Given the description of an element on the screen output the (x, y) to click on. 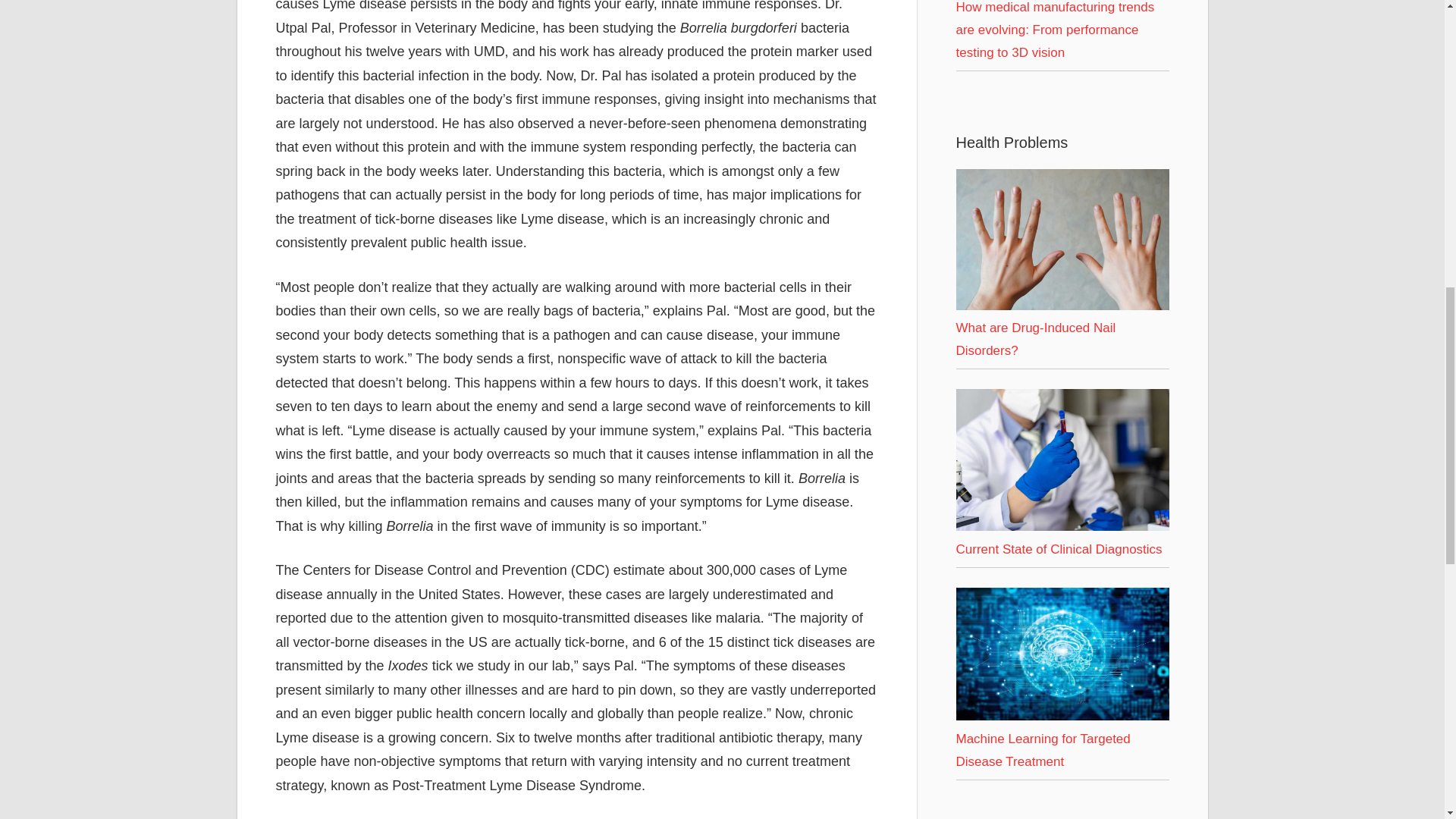
What are Drug-Induced Nail Disorders? (1062, 239)
What are Drug-Induced Nail Disorders? (1035, 339)
Machine Learning for Targeted Disease Treatment (1062, 654)
Machine Learning for Targeted Disease Treatment (1062, 716)
What are Drug-Induced Nail Disorders? (1062, 305)
Machine Learning for Targeted Disease Treatment (1042, 750)
Current State of Clinical Diagnostics (1058, 549)
Current State of Clinical Diagnostics (1062, 459)
Current State of Clinical Diagnostics (1062, 526)
